Given the description of an element on the screen output the (x, y) to click on. 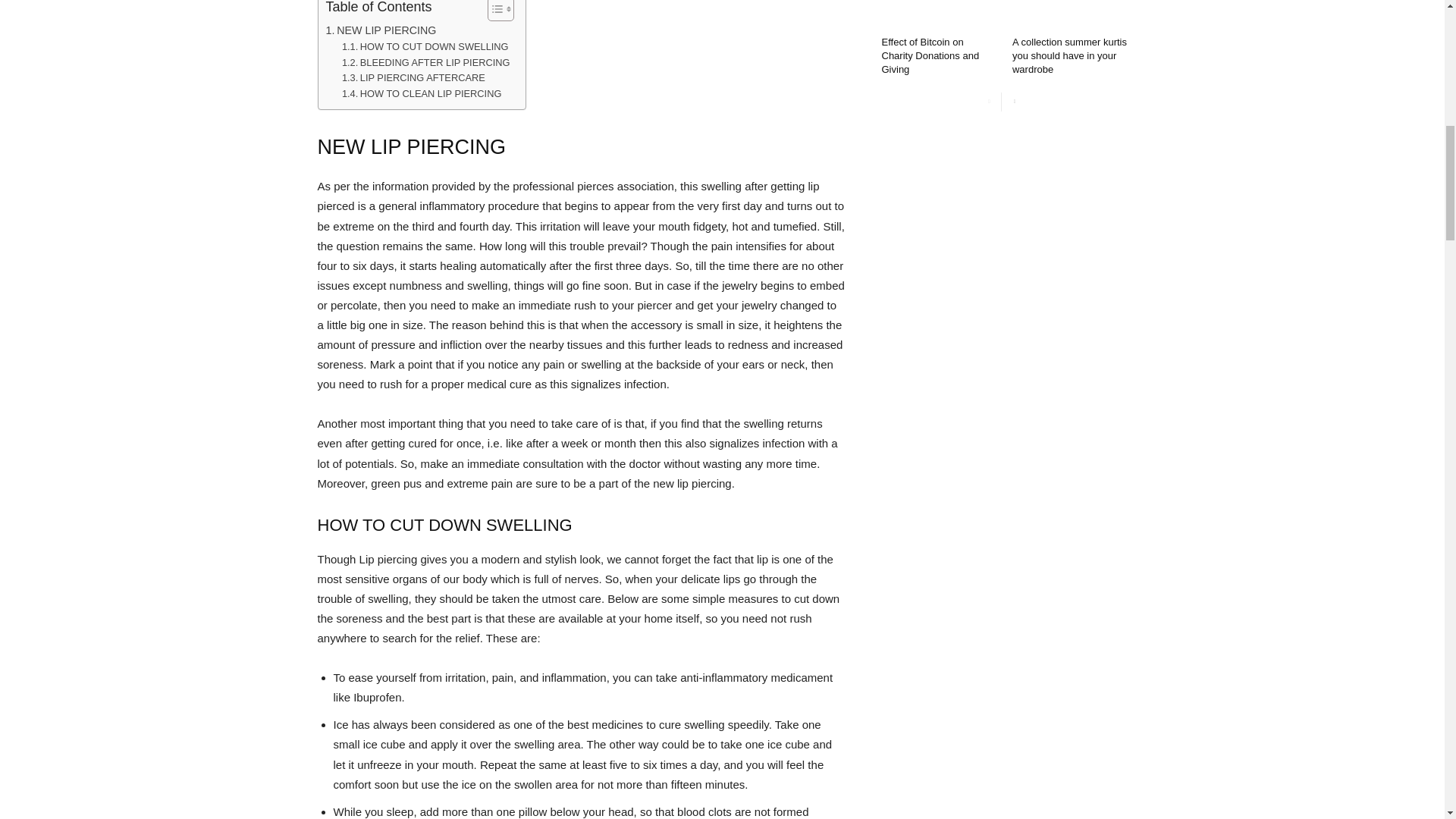
HOW TO CUT DOWN SWELLING (425, 47)
BLEEDING AFTER LIP PIERCING (426, 63)
NEW LIP PIERCING (381, 30)
LIP PIERCING AFTERCARE (413, 78)
